Given the description of an element on the screen output the (x, y) to click on. 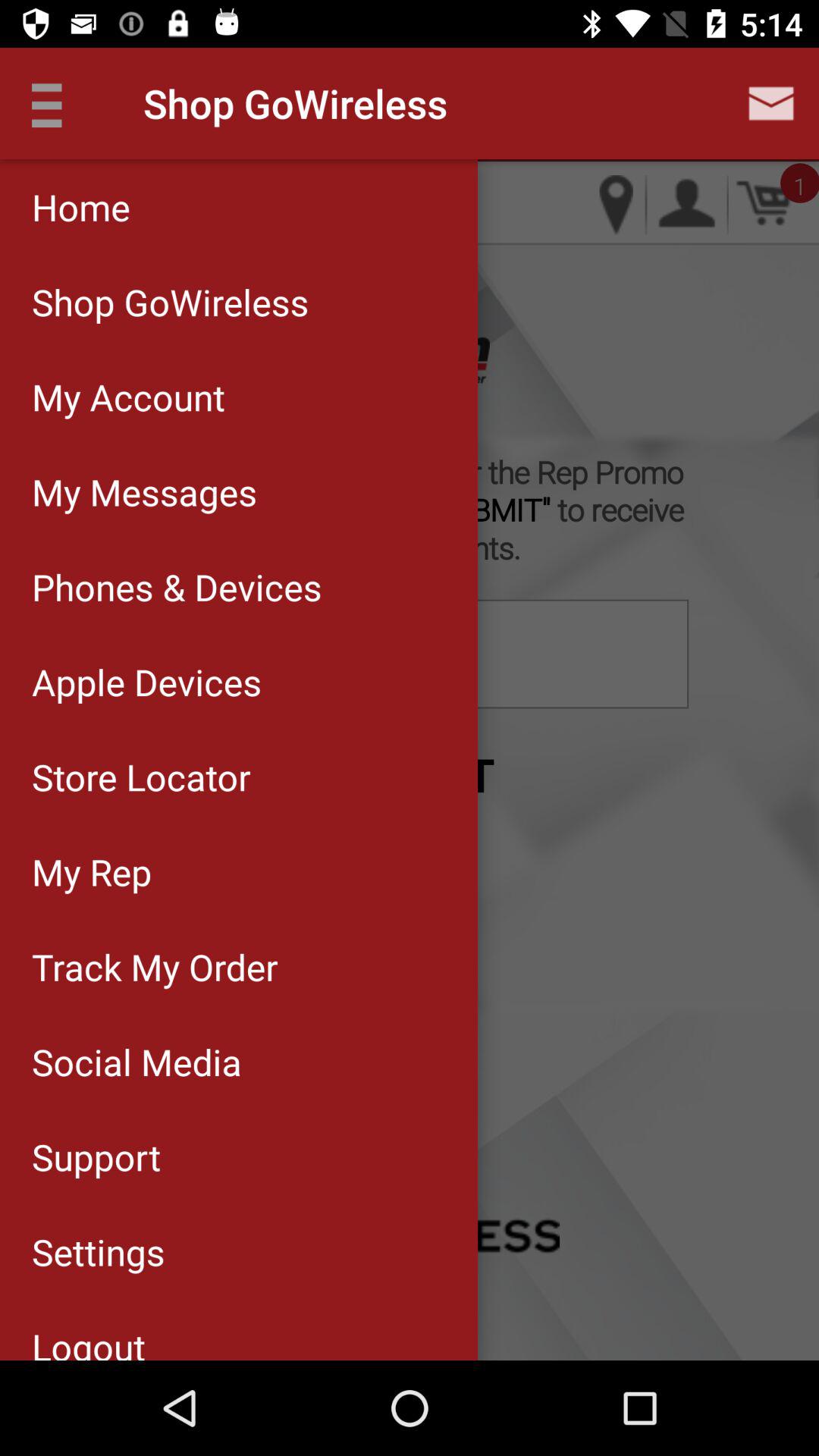
tap my rep icon (238, 871)
